Given the description of an element on the screen output the (x, y) to click on. 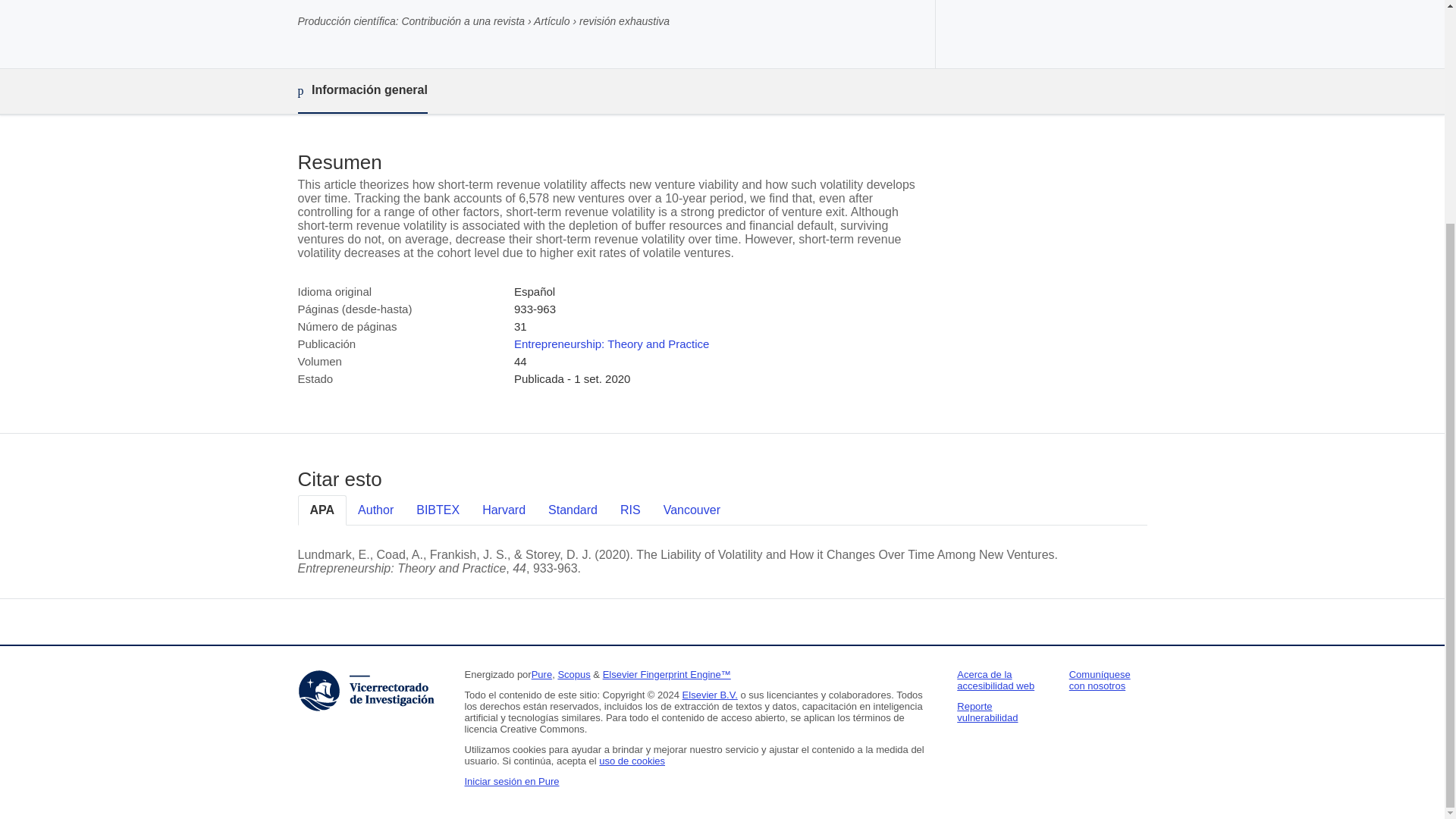
Pure (541, 674)
Scopus (573, 674)
Reporte vulnerabilidad (986, 712)
Acerca de la accesibilidad web (994, 680)
uso de cookies (631, 760)
Entrepreneurship: Theory and Practice (611, 343)
Elsevier B.V. (710, 695)
